Given the description of an element on the screen output the (x, y) to click on. 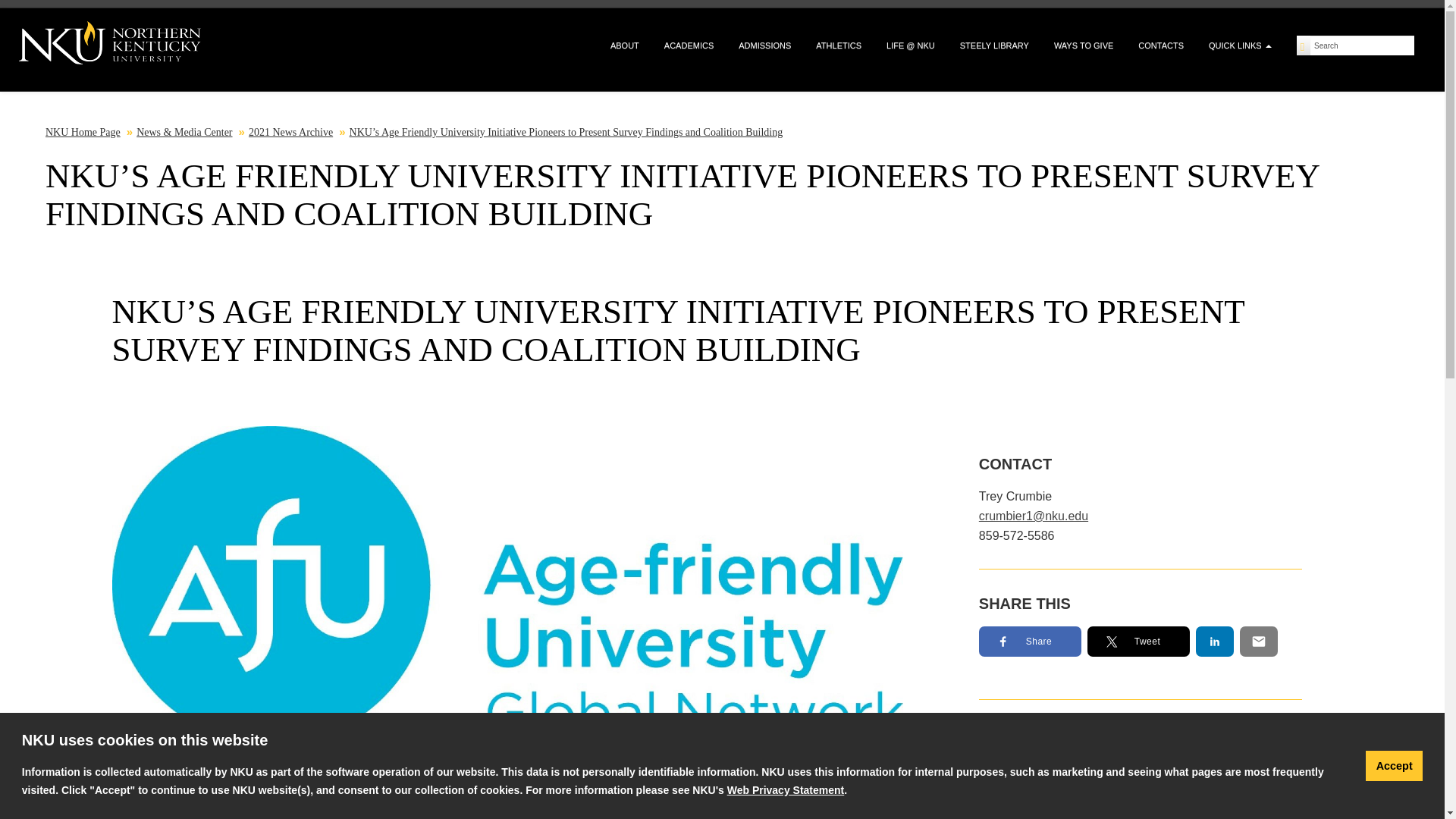
ABOUT (625, 45)
ADMISSIONS (765, 45)
Search (1361, 45)
CONTACTS (1161, 45)
ACADEMICS (688, 45)
2021 News Archive (290, 132)
ATHLETICS (838, 45)
WAYS TO GIVE (1082, 45)
Search (1361, 45)
